Given the description of an element on the screen output the (x, y) to click on. 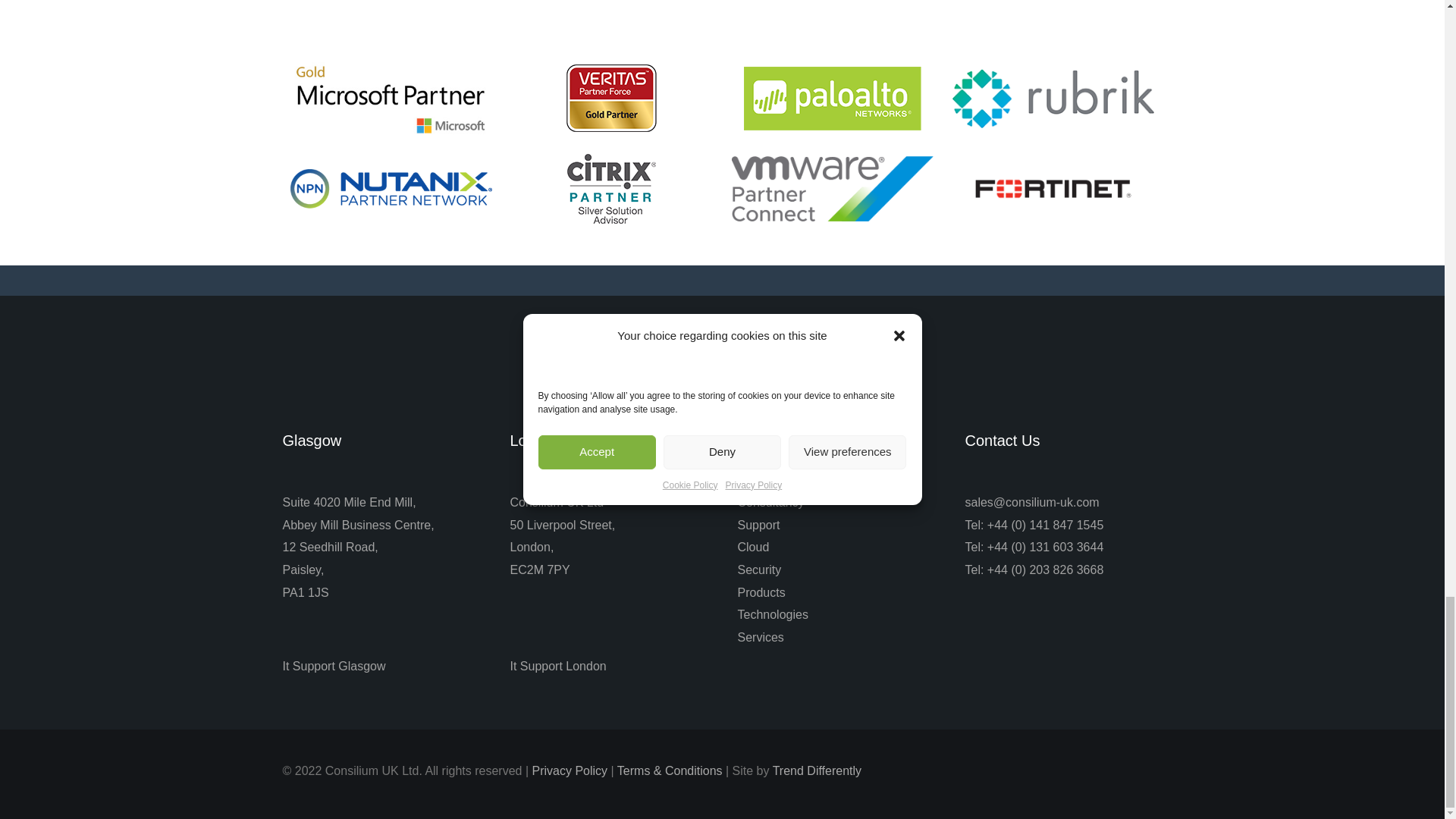
A Kick ICT Group company 3 (721, 353)
